Given the description of an element on the screen output the (x, y) to click on. 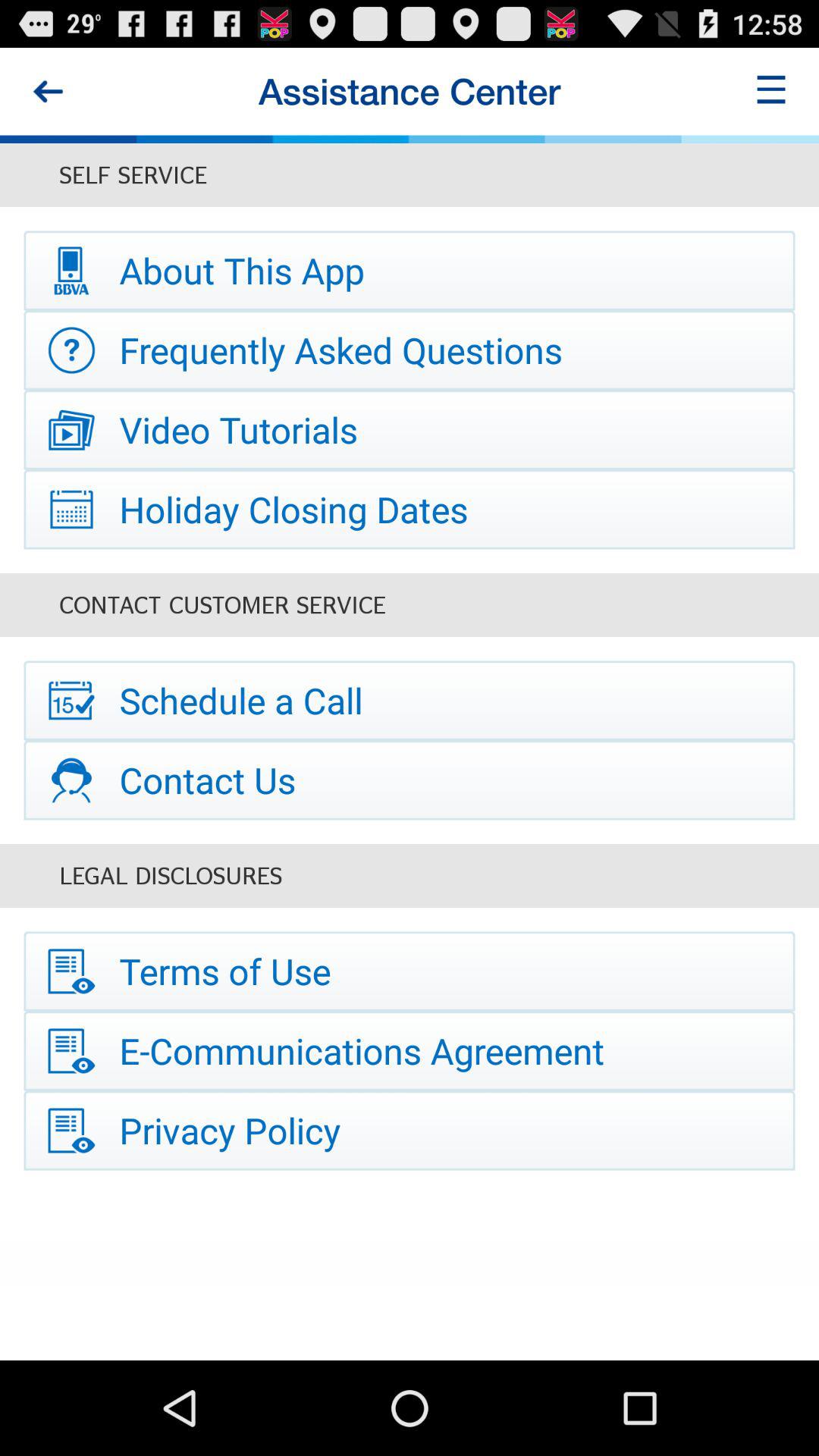
choose the item to the right of the assistance center (771, 91)
